Given the description of an element on the screen output the (x, y) to click on. 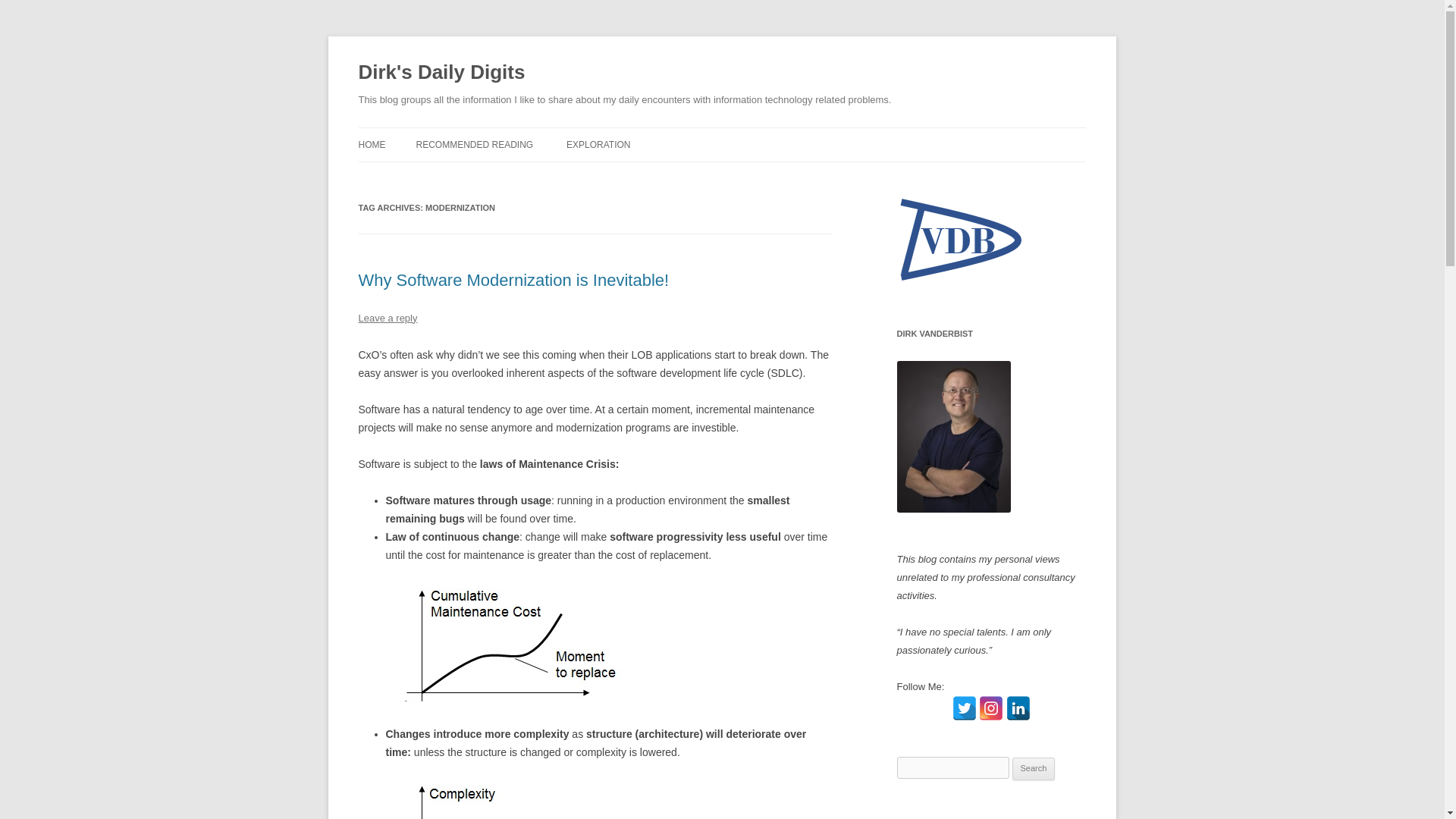
Leave a reply (387, 317)
EXPLORATION (598, 144)
LinkedIn (1018, 708)
RECOMMENDED READING (473, 144)
Search (1033, 768)
Twitter (964, 708)
Why Software Modernization is Inevitable! (513, 280)
Instagram (990, 708)
Dirk's Daily Digits (441, 72)
